Given the description of an element on the screen output the (x, y) to click on. 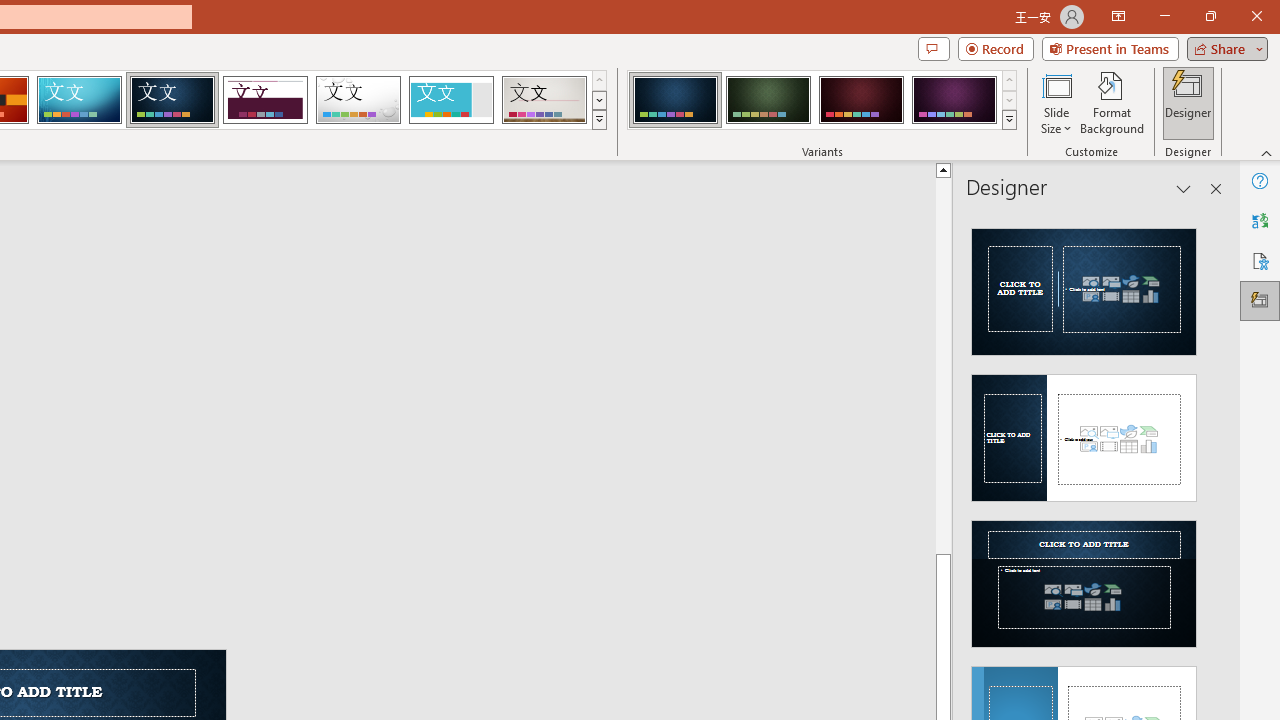
Variants (1009, 120)
Damask Variant 4 (953, 100)
Circuit (79, 100)
Damask Variant 3 (861, 100)
AutomationID: ThemeVariantsGallery (822, 99)
Slide Size (1056, 102)
Gallery (544, 100)
Themes (598, 120)
